Given the description of an element on the screen output the (x, y) to click on. 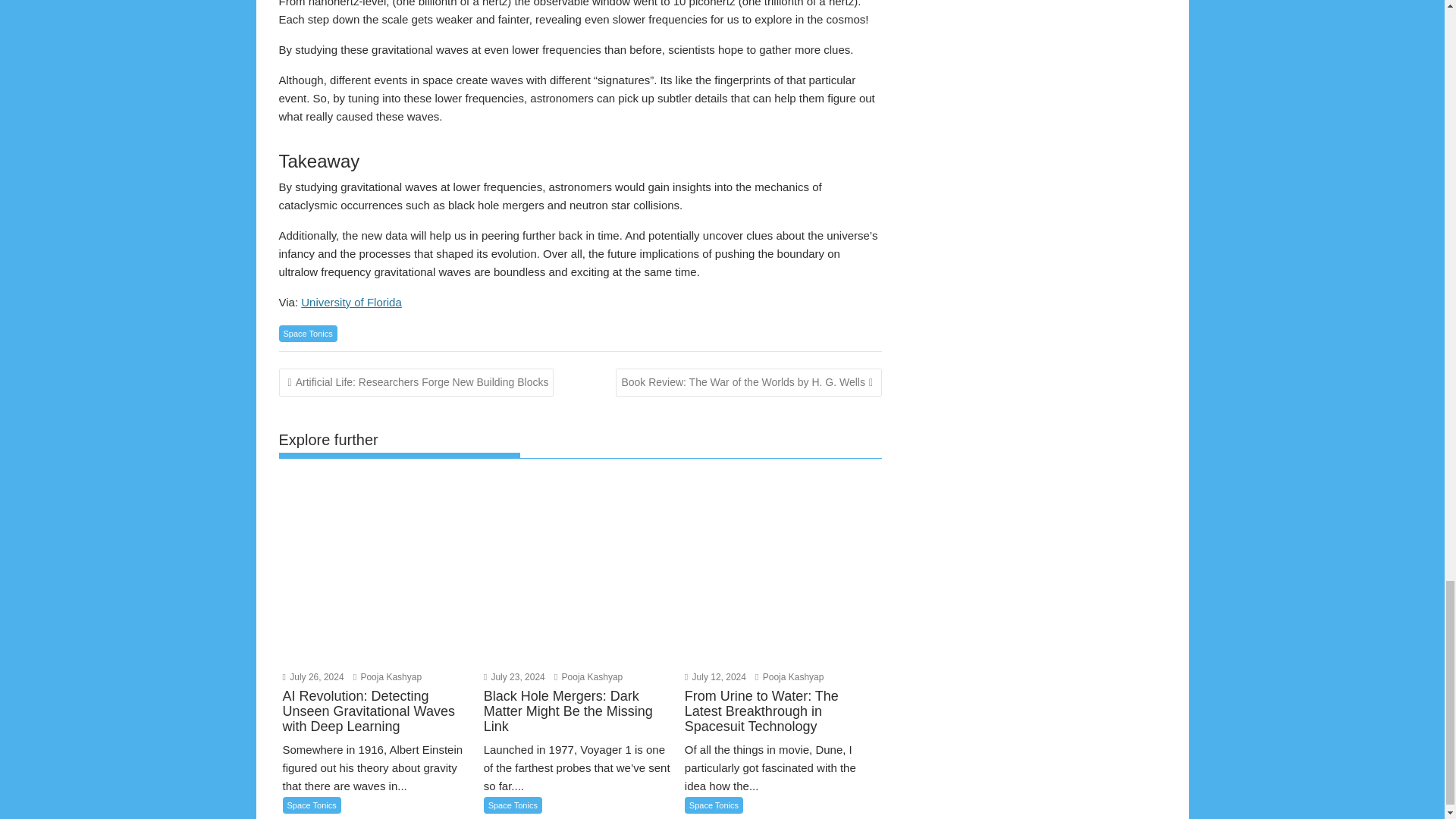
University of Florida (351, 301)
Pooja Kashyap (789, 676)
Pooja Kashyap (588, 676)
Pooja Kashyap (387, 676)
